Given the description of an element on the screen output the (x, y) to click on. 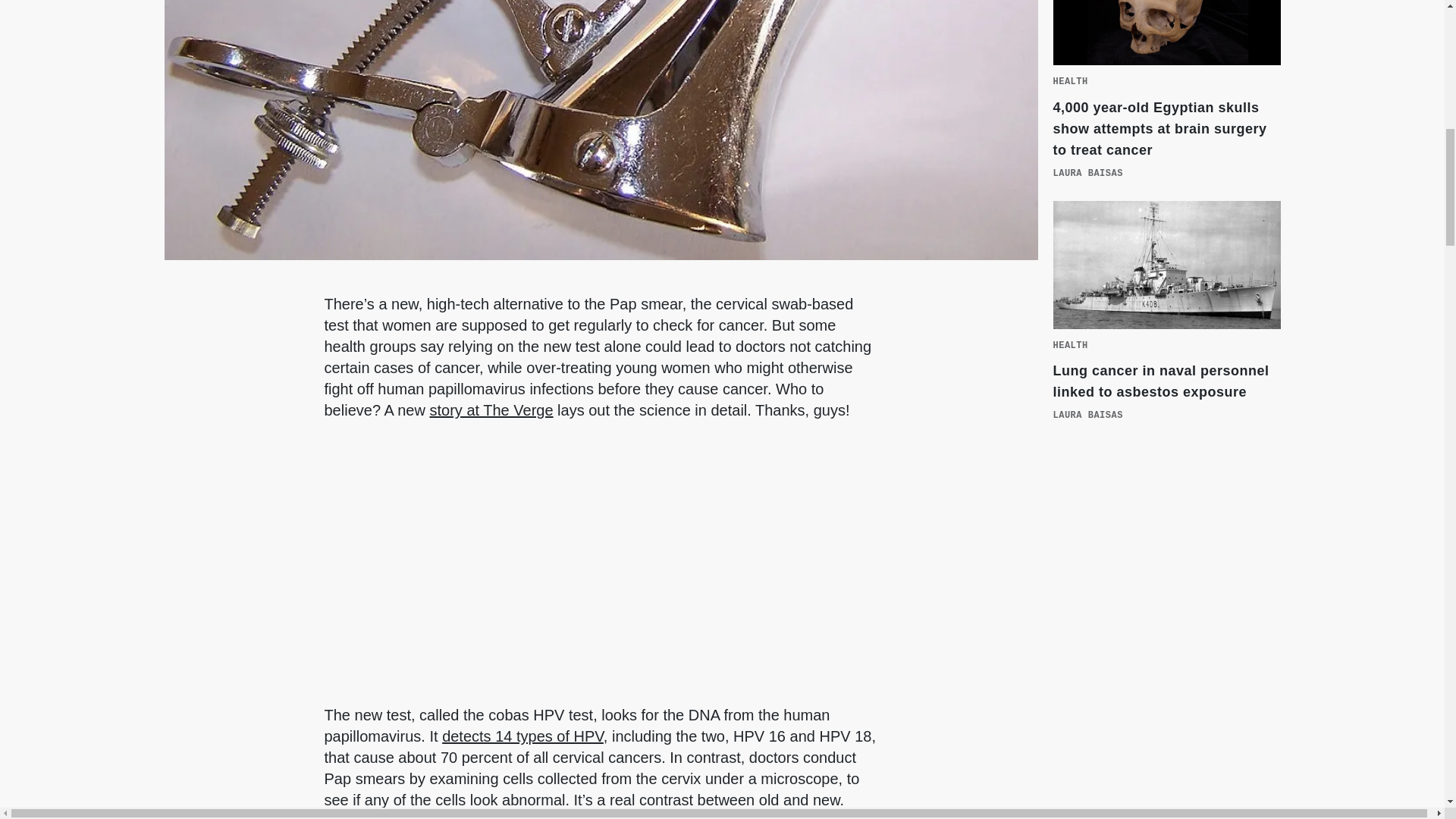
3rd party ad content (1165, 579)
